Given the description of an element on the screen output the (x, y) to click on. 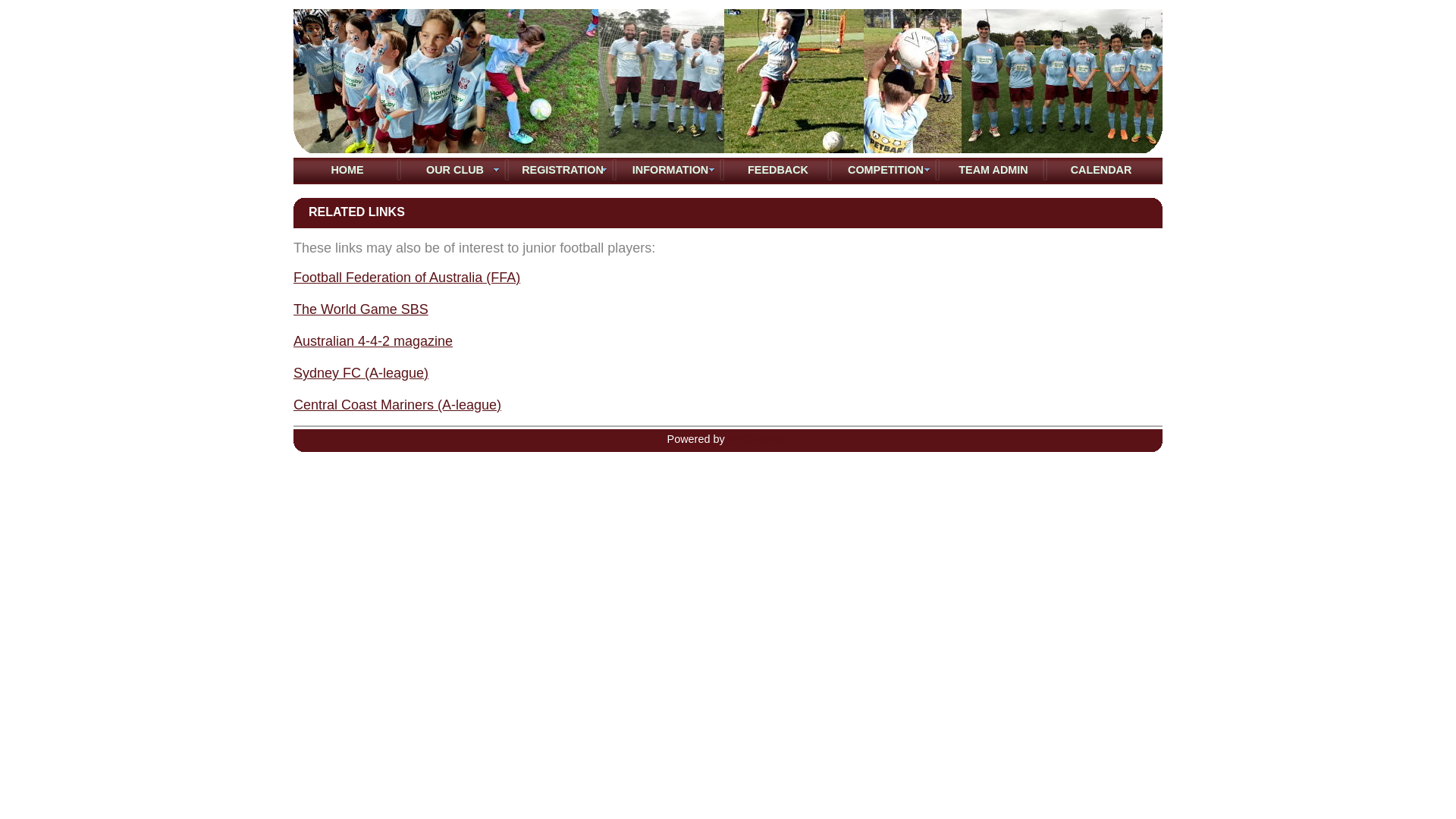
Australian 4-4-2 magazine Element type: text (372, 340)
COMPETITION Element type: text (885, 169)
INFORMATION Element type: text (670, 169)
The World Game SBS Element type: text (360, 308)
REGISTRATION Element type: text (562, 169)
TEAM ADMIN Element type: text (993, 169)
FEEDBACK Element type: text (777, 169)
OUR CLUB Element type: text (454, 169)
Central Coast Mariners (A-league) Element type: text (397, 404)
HOME Element type: text (347, 169)
Football Federation of Australia (FFA) Element type: text (406, 277)
Sydney FC (A-league) Element type: text (360, 372)
MyClubMate Element type: text (758, 439)
CALENDAR Element type: text (1100, 169)
